Given the description of an element on the screen output the (x, y) to click on. 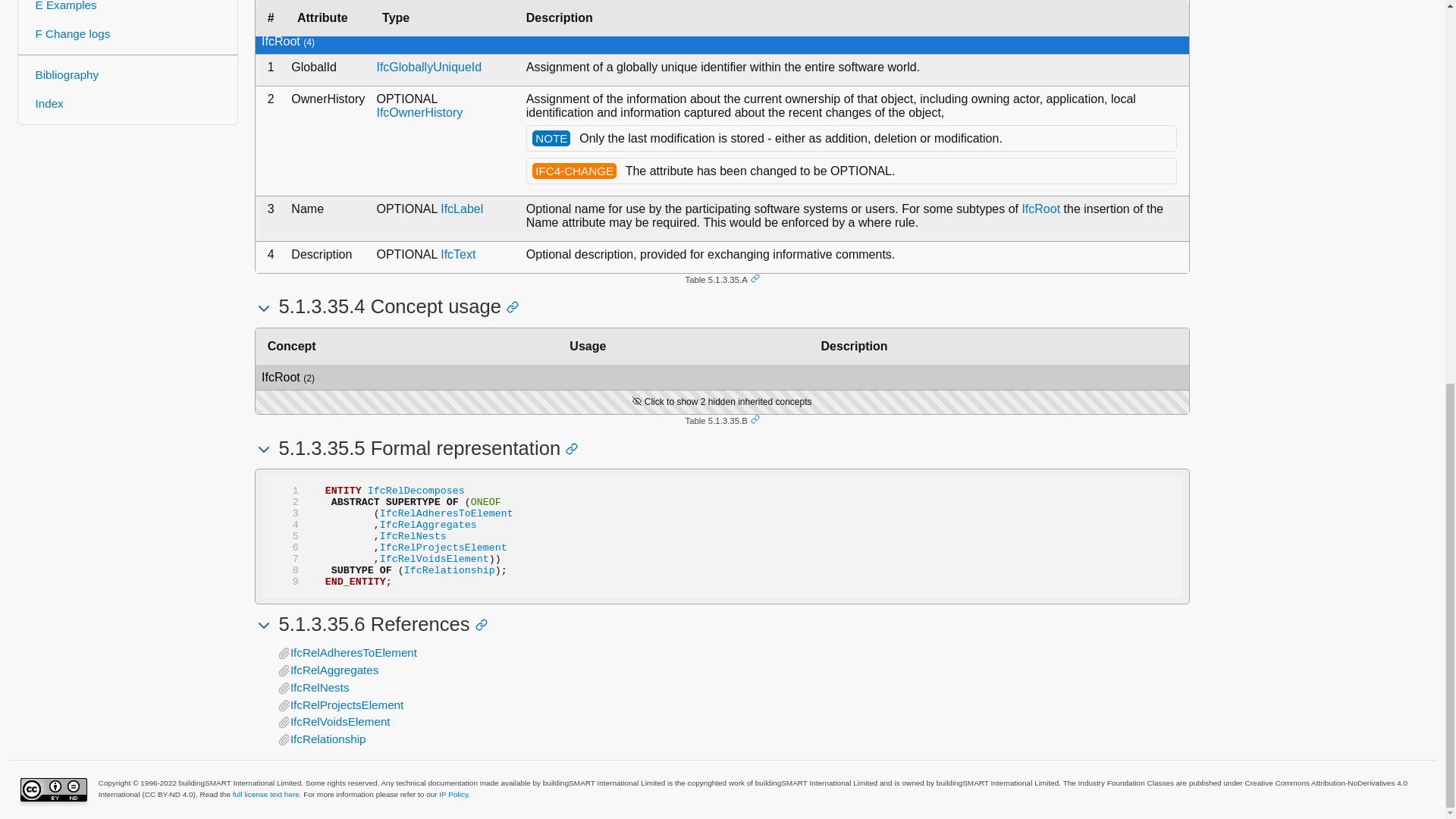
E Examples (127, 10)
F Change logs (127, 34)
Bibliography (127, 75)
Index (127, 104)
